Given the description of an element on the screen output the (x, y) to click on. 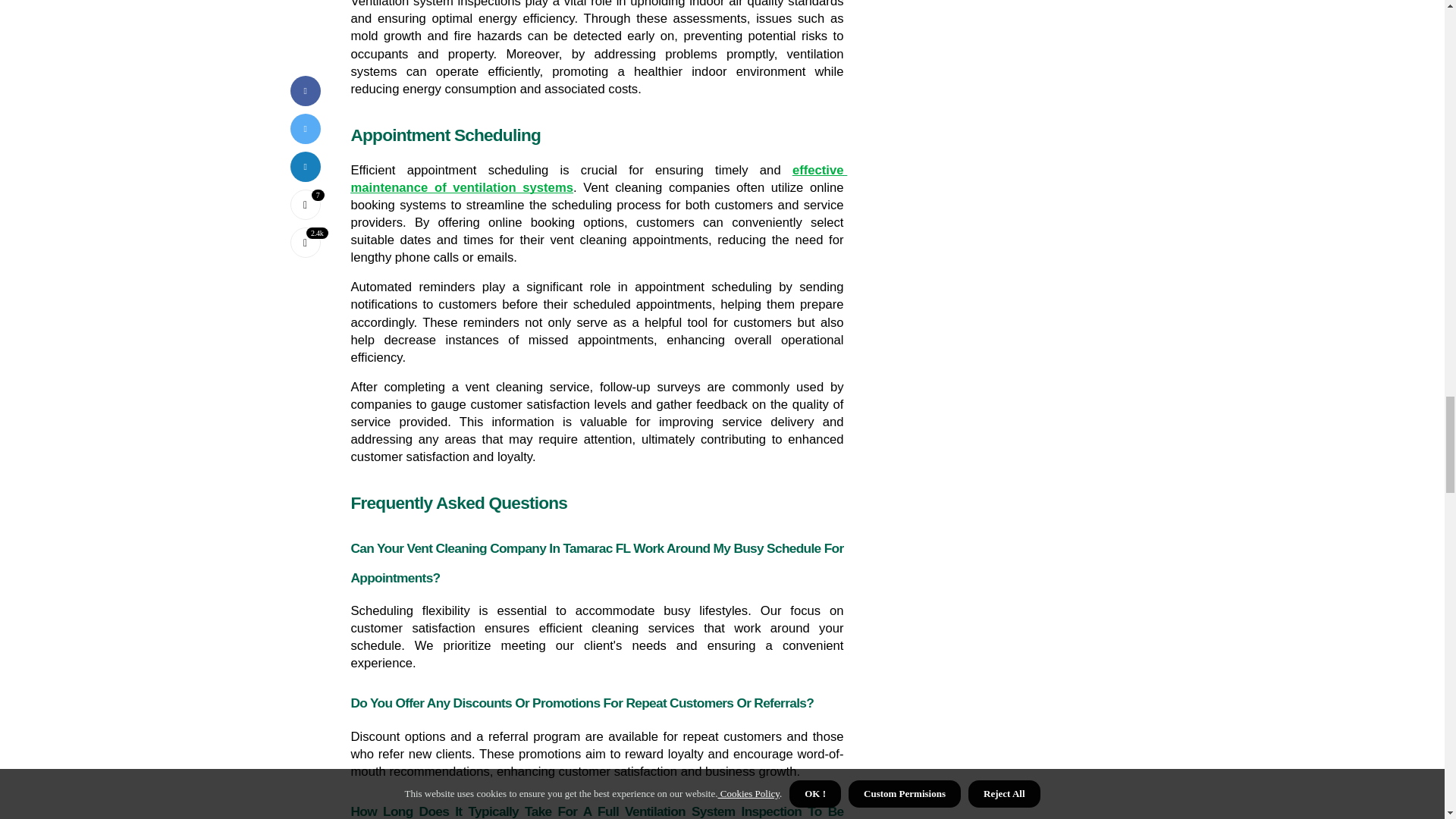
effective maintenance of ventilation systems (598, 178)
